Given the description of an element on the screen output the (x, y) to click on. 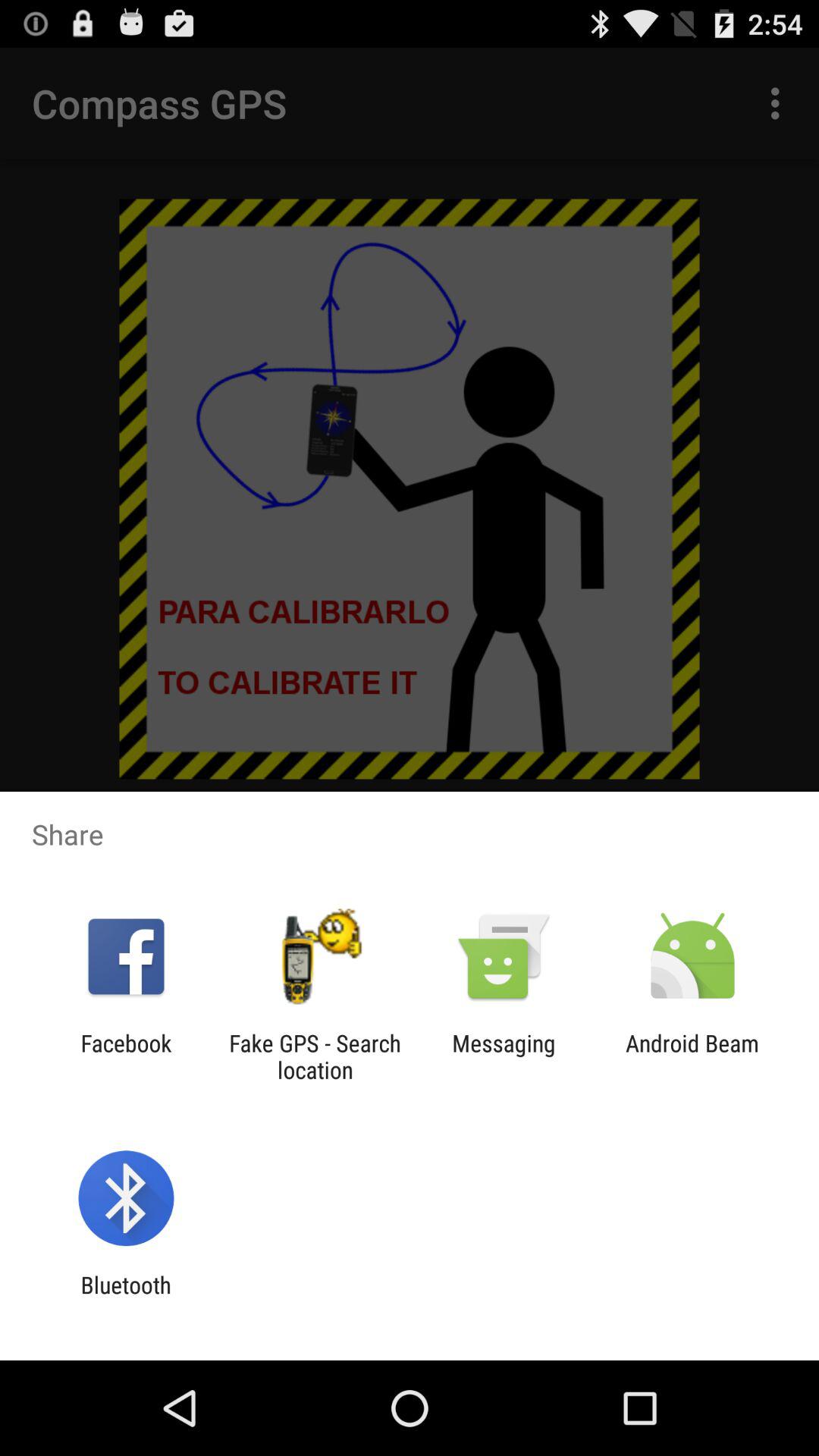
launch the icon to the right of facebook item (314, 1056)
